Given the description of an element on the screen output the (x, y) to click on. 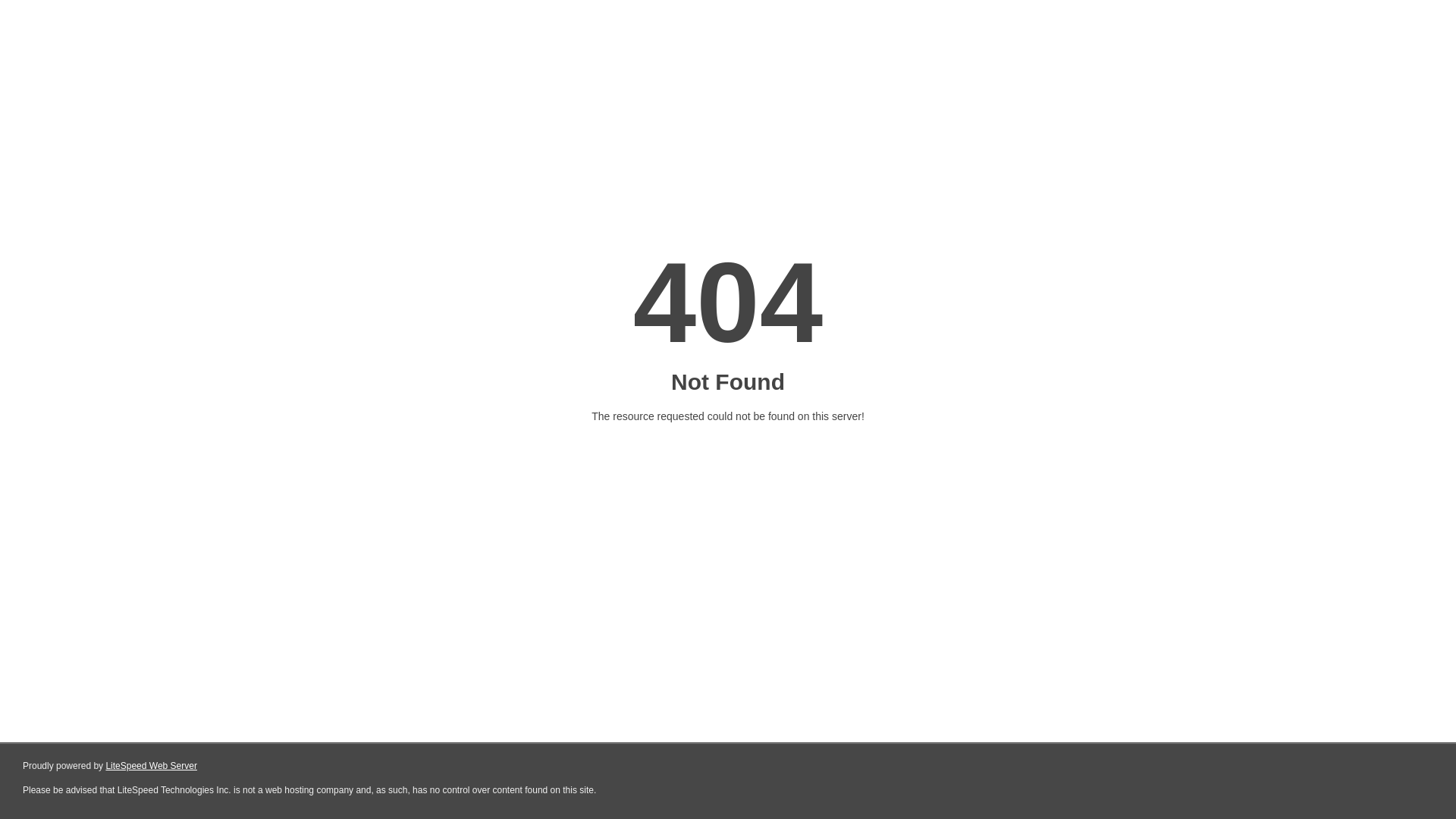
LiteSpeed Web Server Element type: text (151, 765)
